Given the description of an element on the screen output the (x, y) to click on. 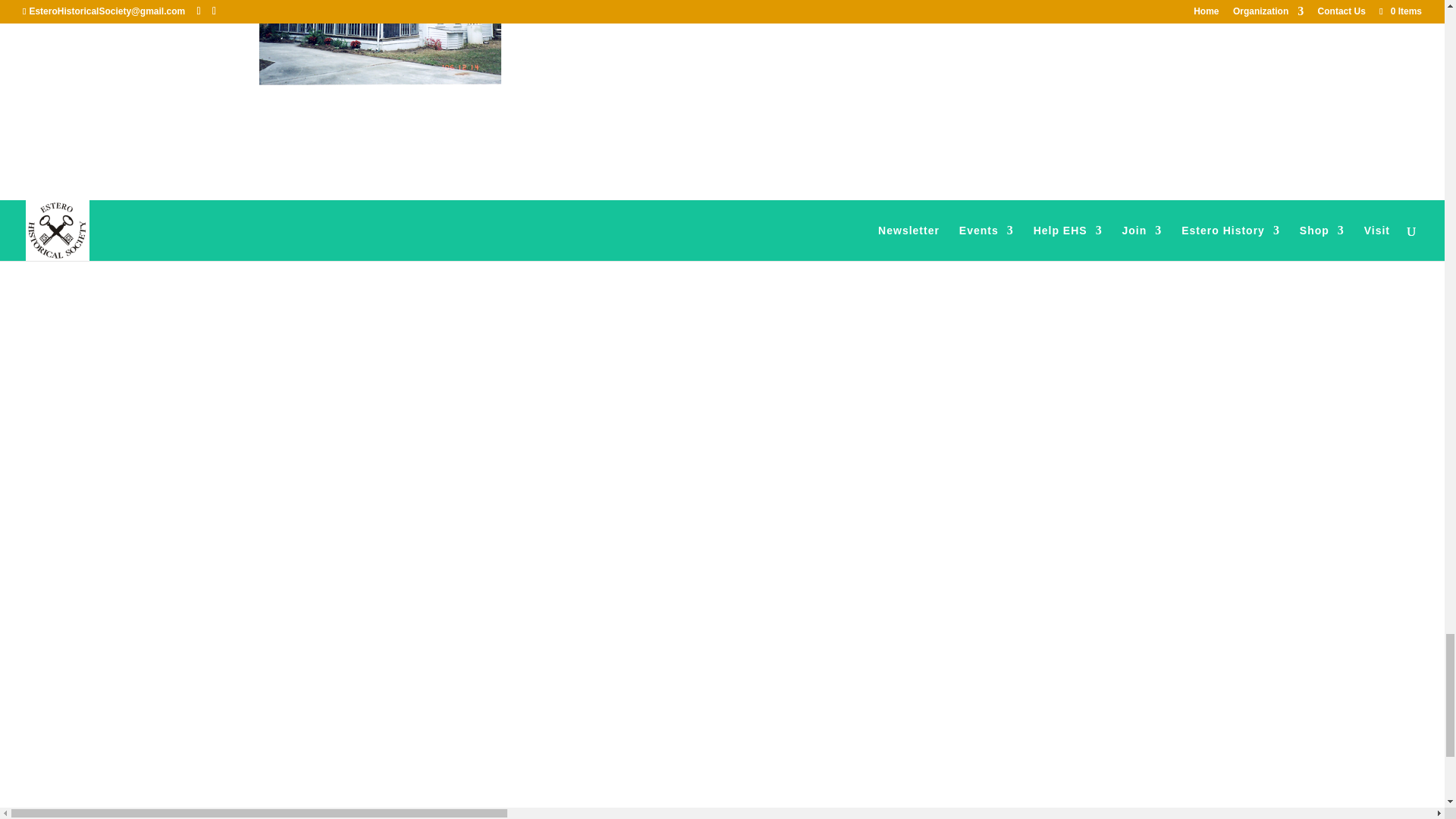
Hall-Hanson-Collier House (379, 42)
Hall-Hanson-Collier House (380, 45)
